Given the description of an element on the screen output the (x, y) to click on. 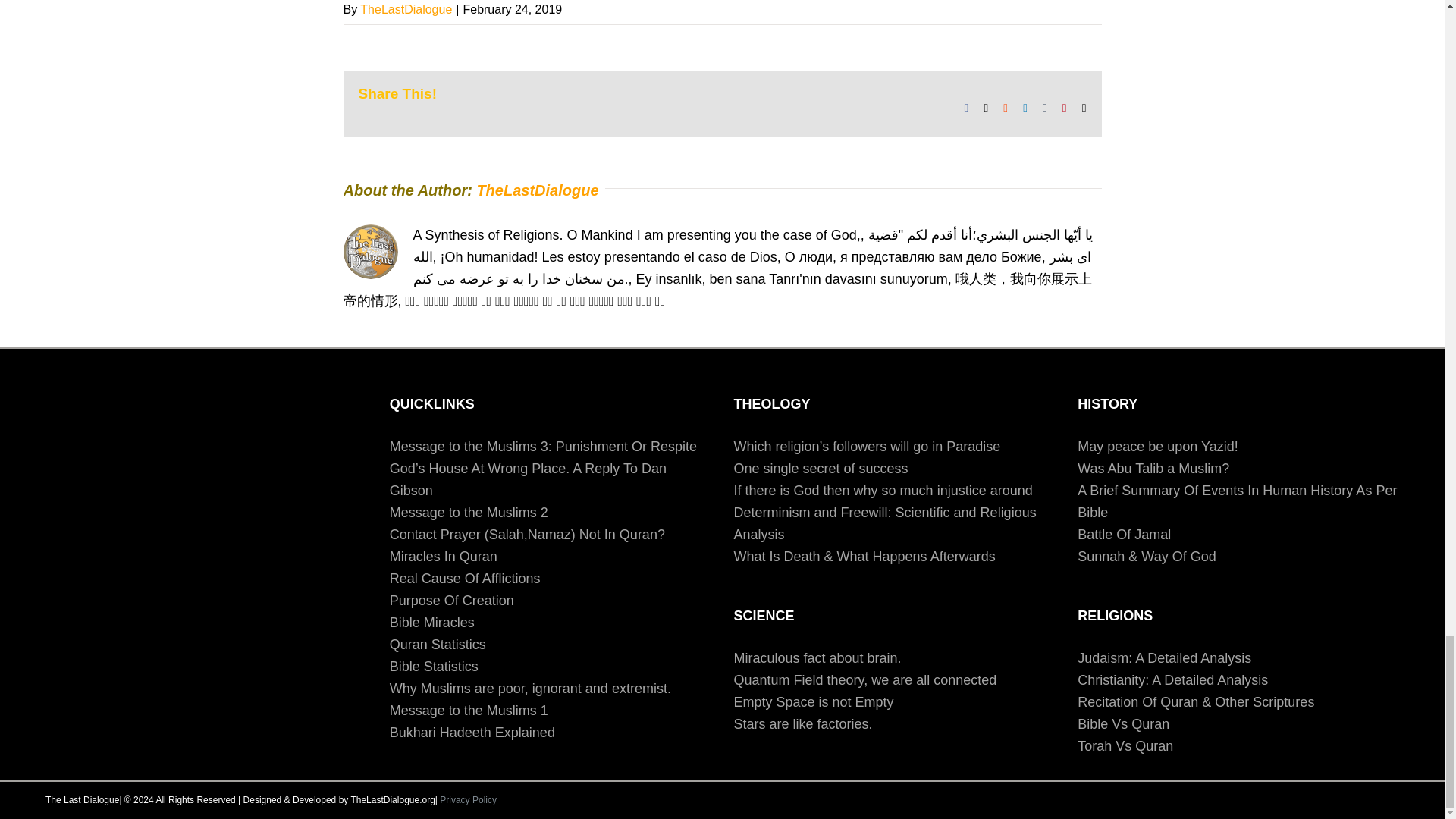
Posts by TheLastDialogue (405, 9)
